Given the description of an element on the screen output the (x, y) to click on. 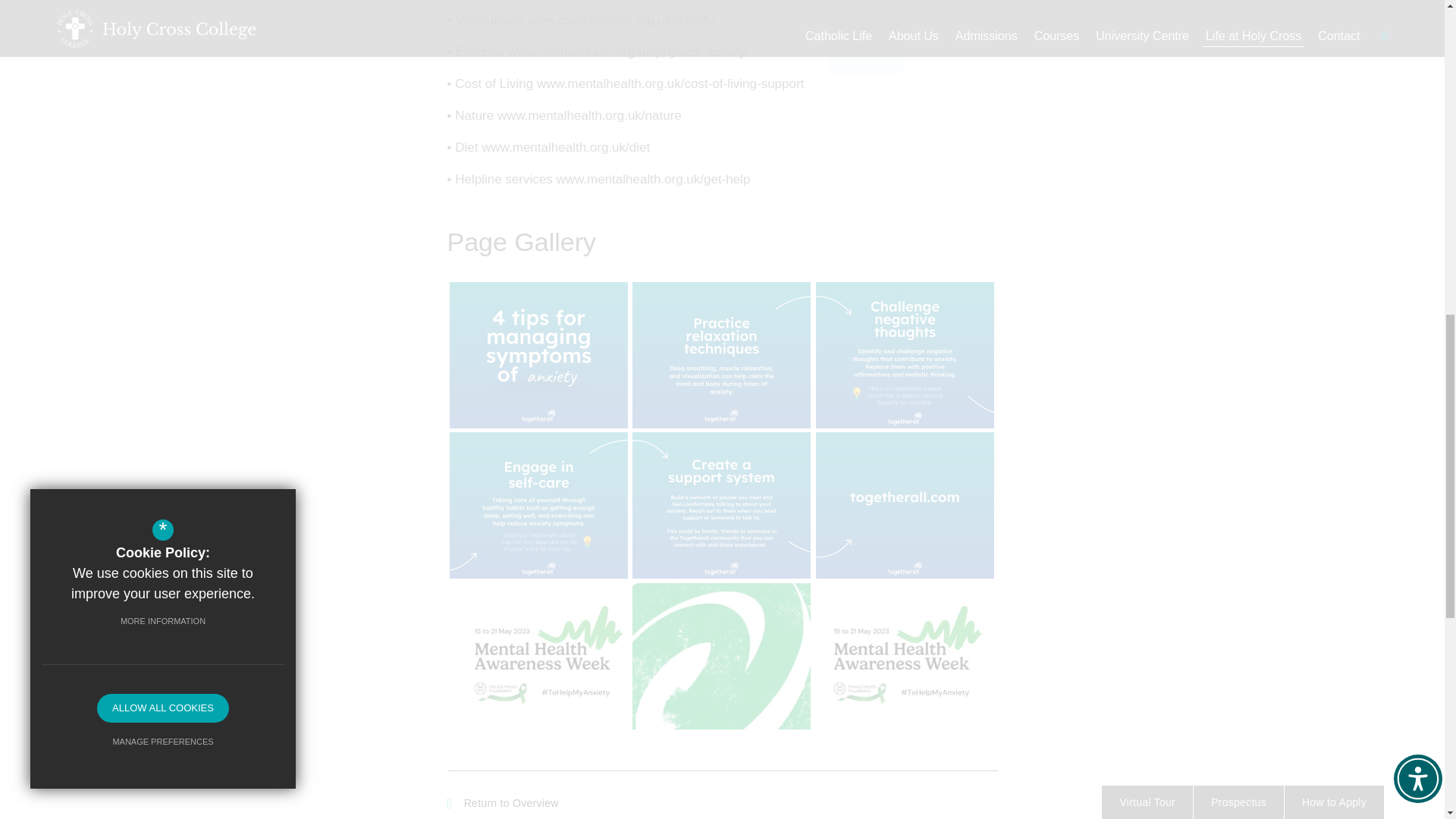
Return to Overview (502, 803)
